Given the description of an element on the screen output the (x, y) to click on. 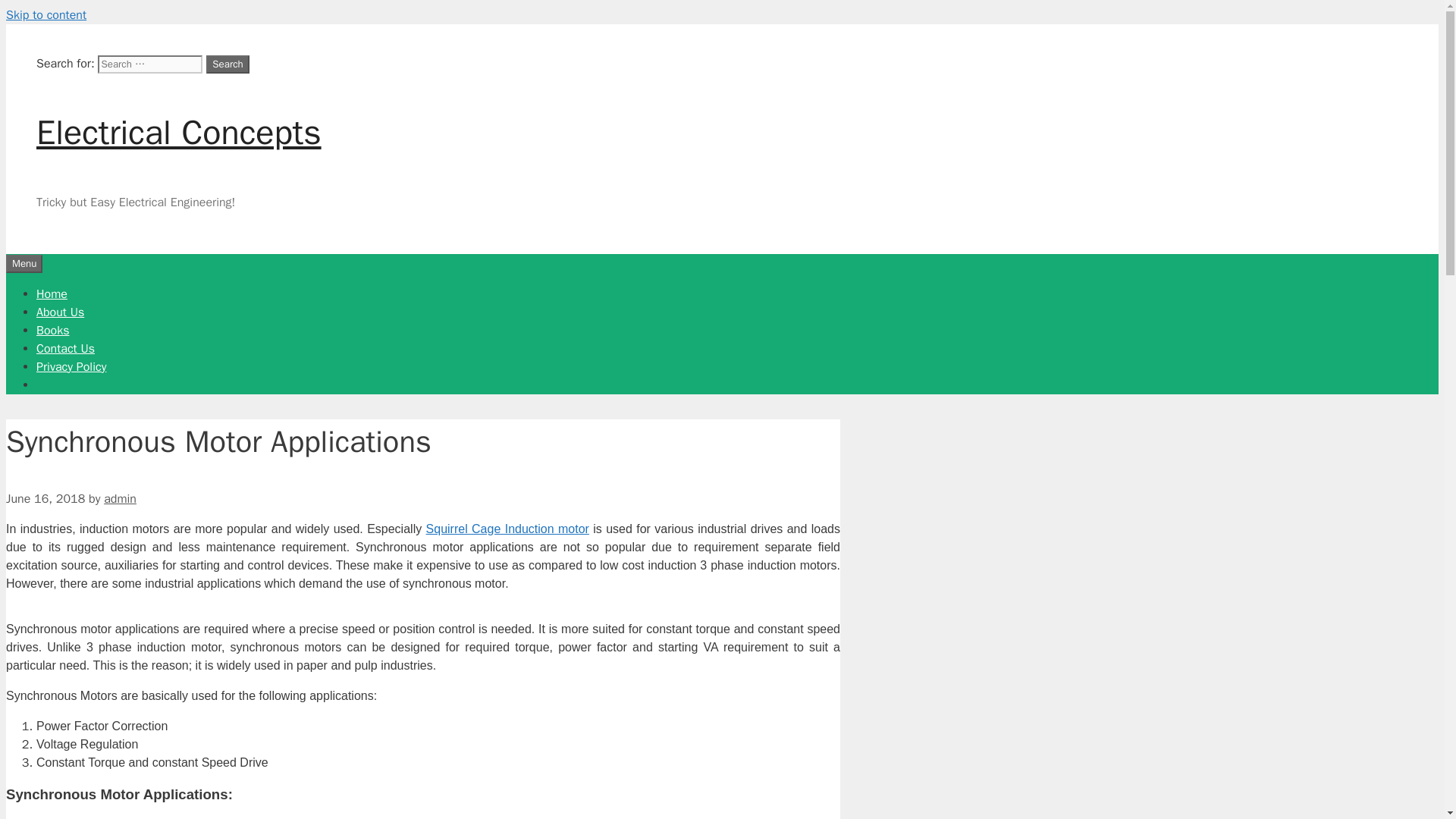
Skip to content (45, 14)
Menu (23, 263)
Skip to content (45, 14)
Books (52, 330)
Search (227, 64)
Search for: (149, 64)
Squirrel Cage Induction motor (507, 528)
Search (227, 64)
admin (119, 498)
Electrical Concepts (178, 132)
